Given the description of an element on the screen output the (x, y) to click on. 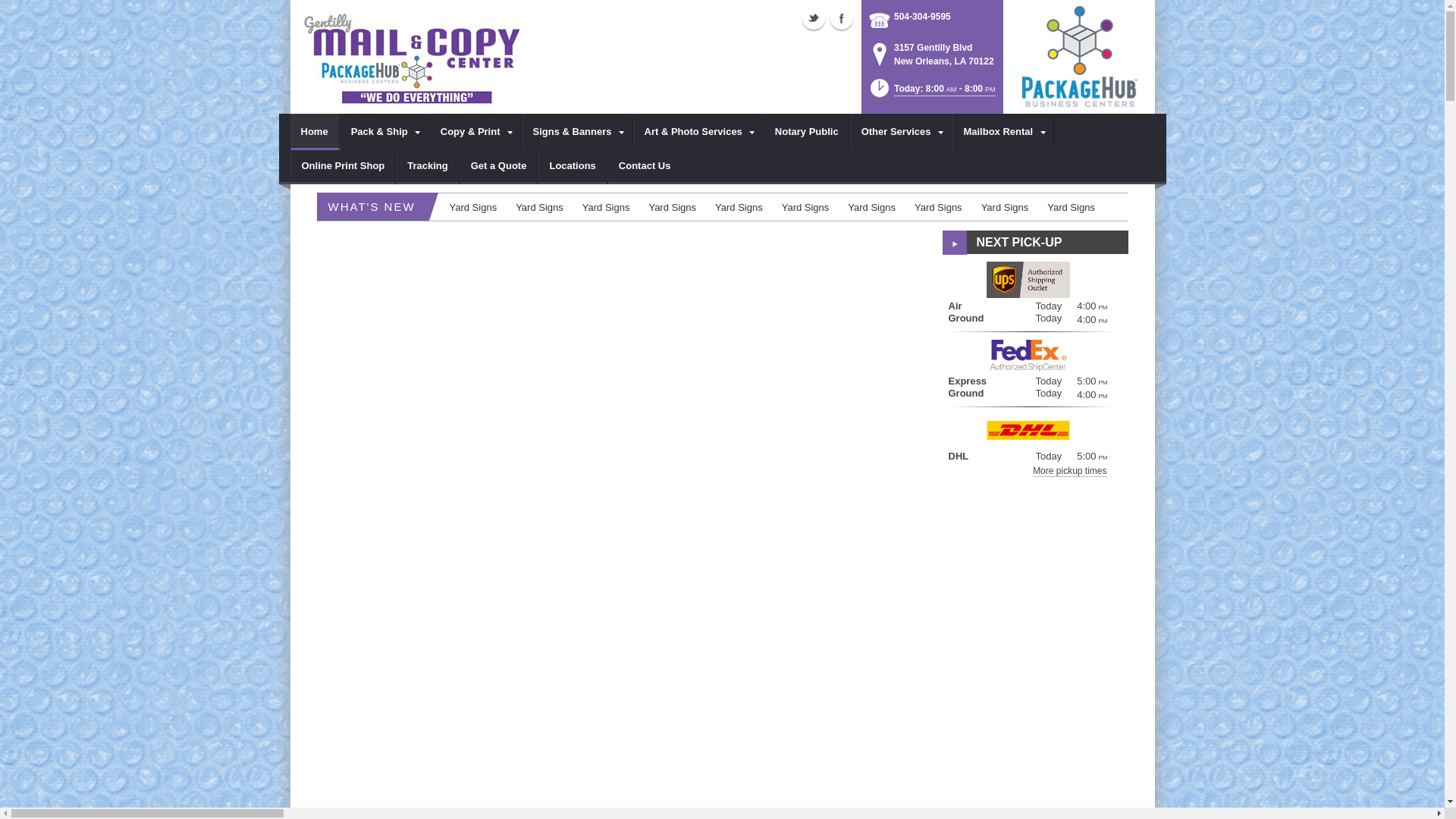
Facebook, opens in a new window (841, 17)
504-304-9595 (921, 15)
Home (314, 131)
Twitter, opens in a new window (813, 17)
Today: 8:00AM - 8:00PM (931, 92)
PackageHub Business Centers (1078, 55)
